Given the description of an element on the screen output the (x, y) to click on. 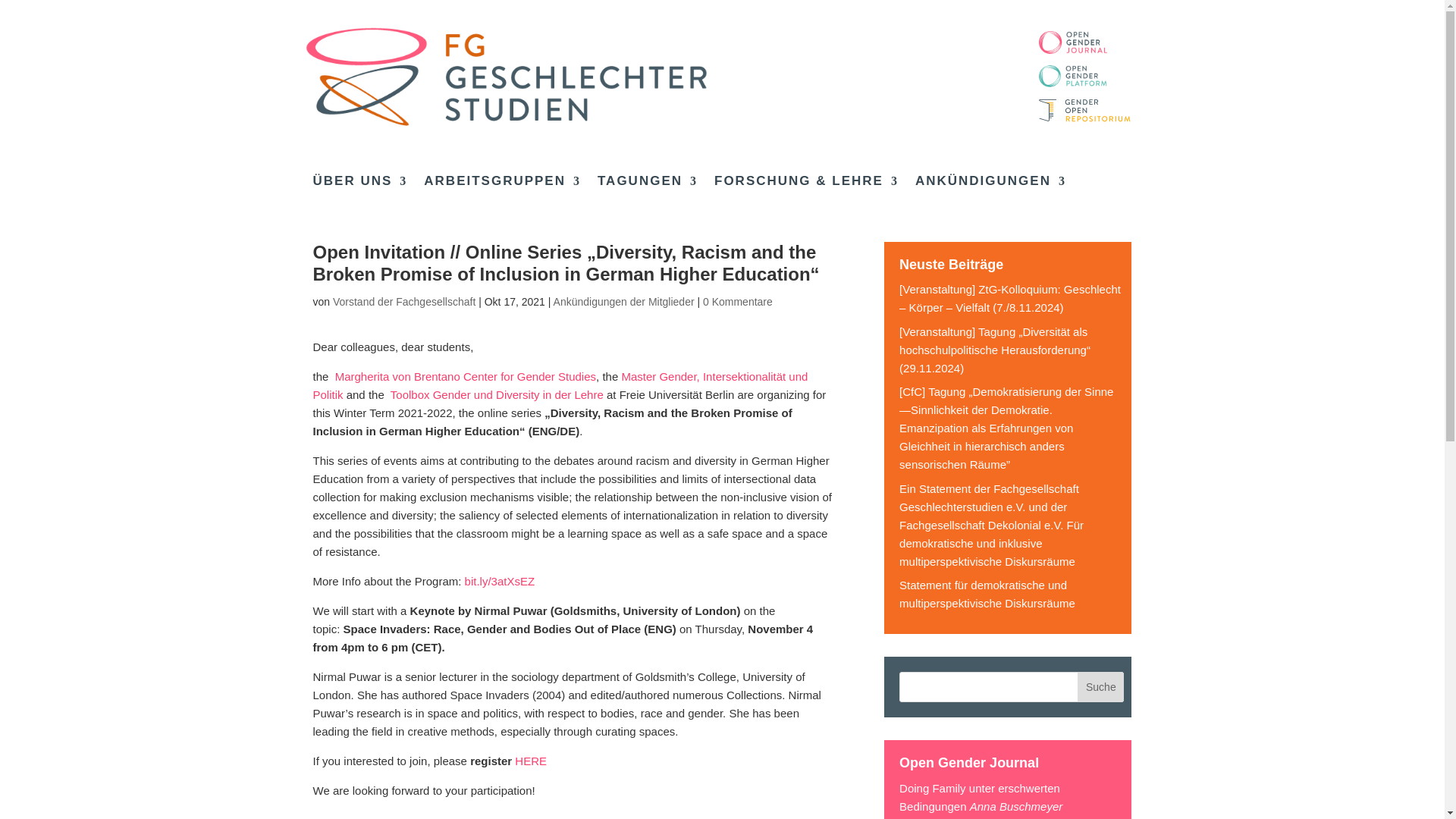
ARBEITSGRUPPEN (501, 184)
TAGUNGEN (646, 184)
Suche (1100, 686)
